Given the description of an element on the screen output the (x, y) to click on. 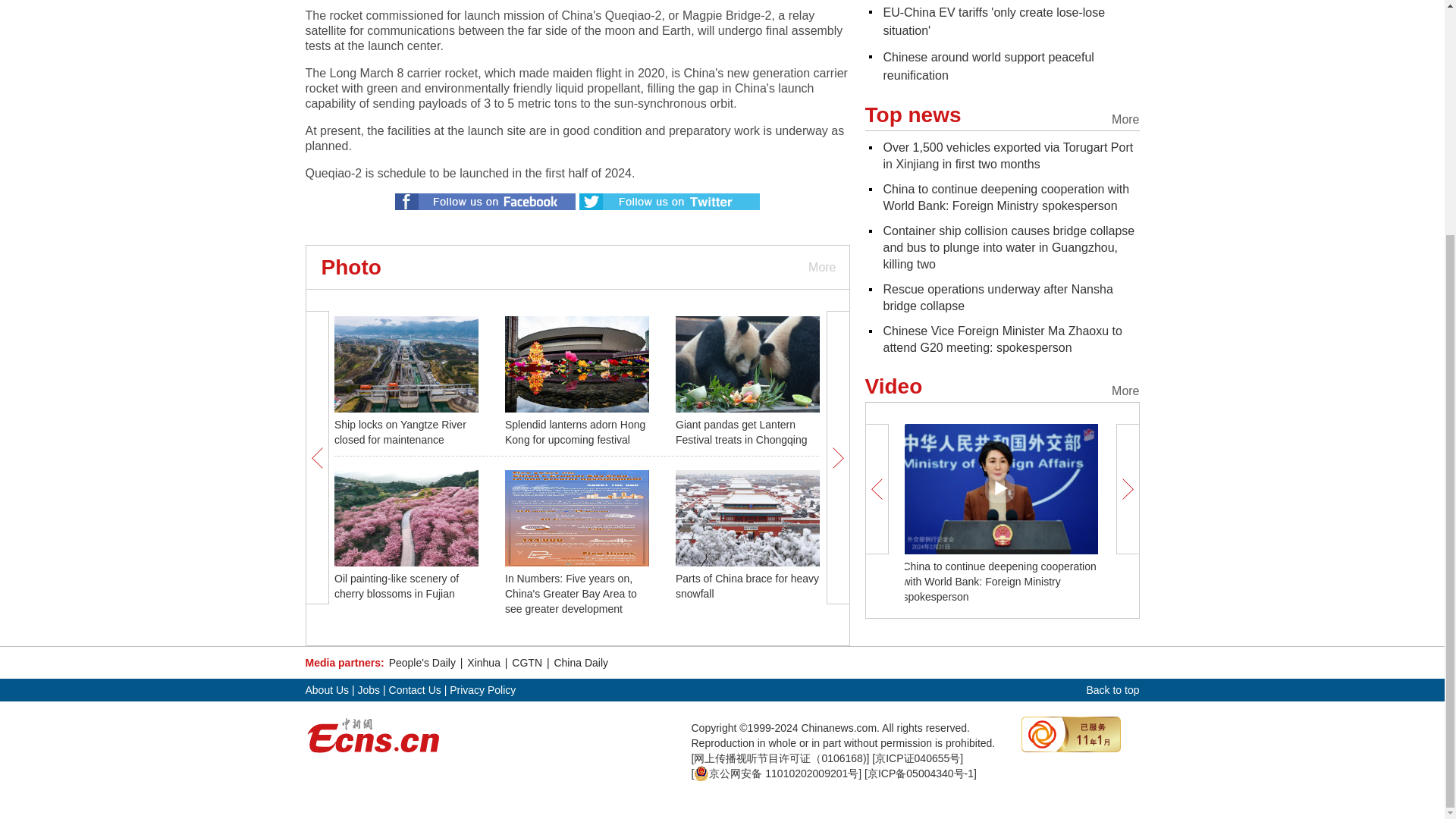
Parts of China brace for heavy snowfall (746, 585)
Chinese (987, 65)
Ship locks on Yangtze River closed for maintenance (399, 431)
EU-China (993, 20)
Oil painting-like scenery of cherry blossoms in Fujian (396, 585)
Giant pandas get Lantern Festival treats in Chongqing (741, 431)
Splendid lanterns adorn Hong Kong for upcoming festival (575, 431)
